Given the description of an element on the screen output the (x, y) to click on. 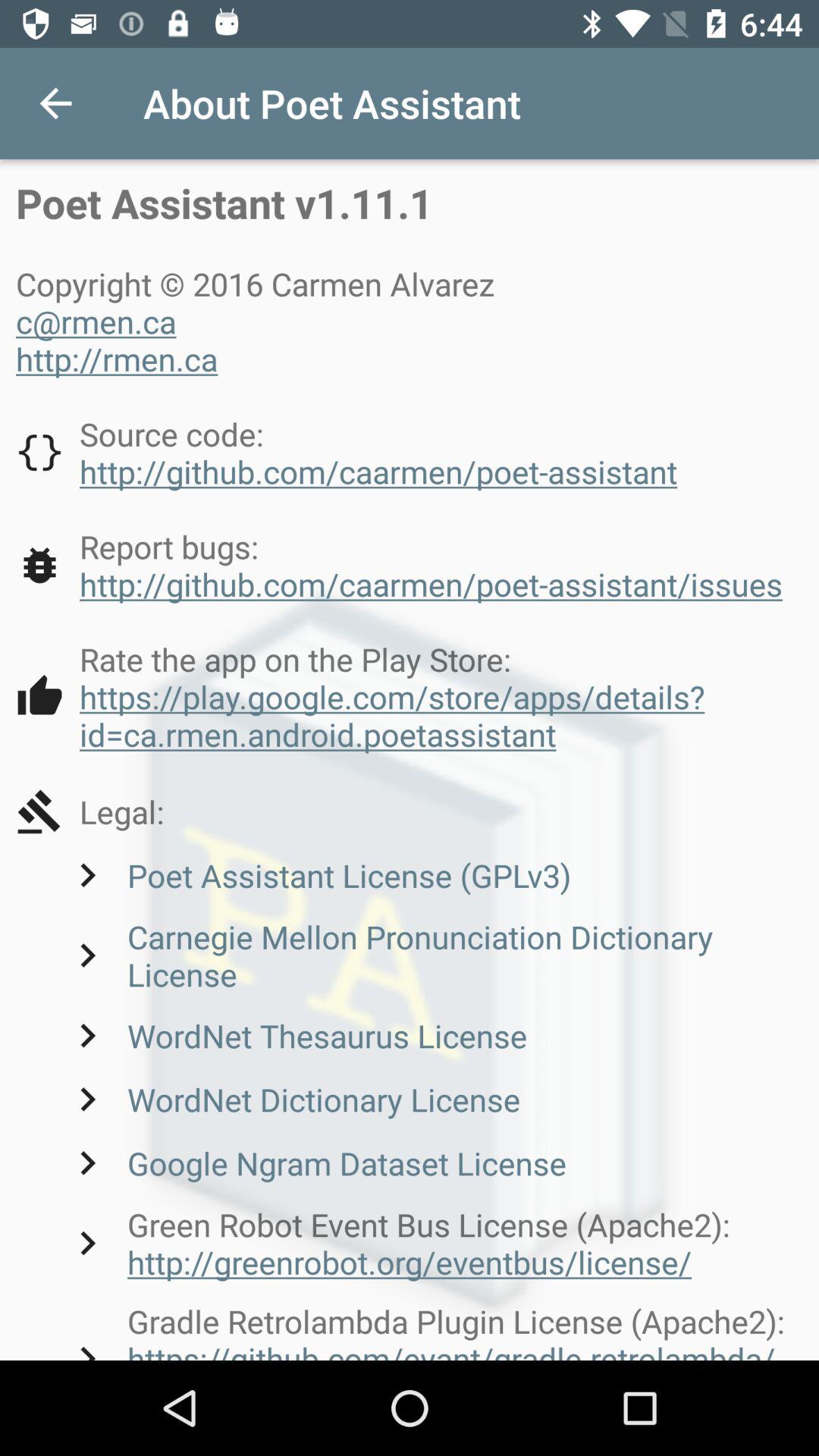
flip to green robot event icon (433, 1242)
